Given the description of an element on the screen output the (x, y) to click on. 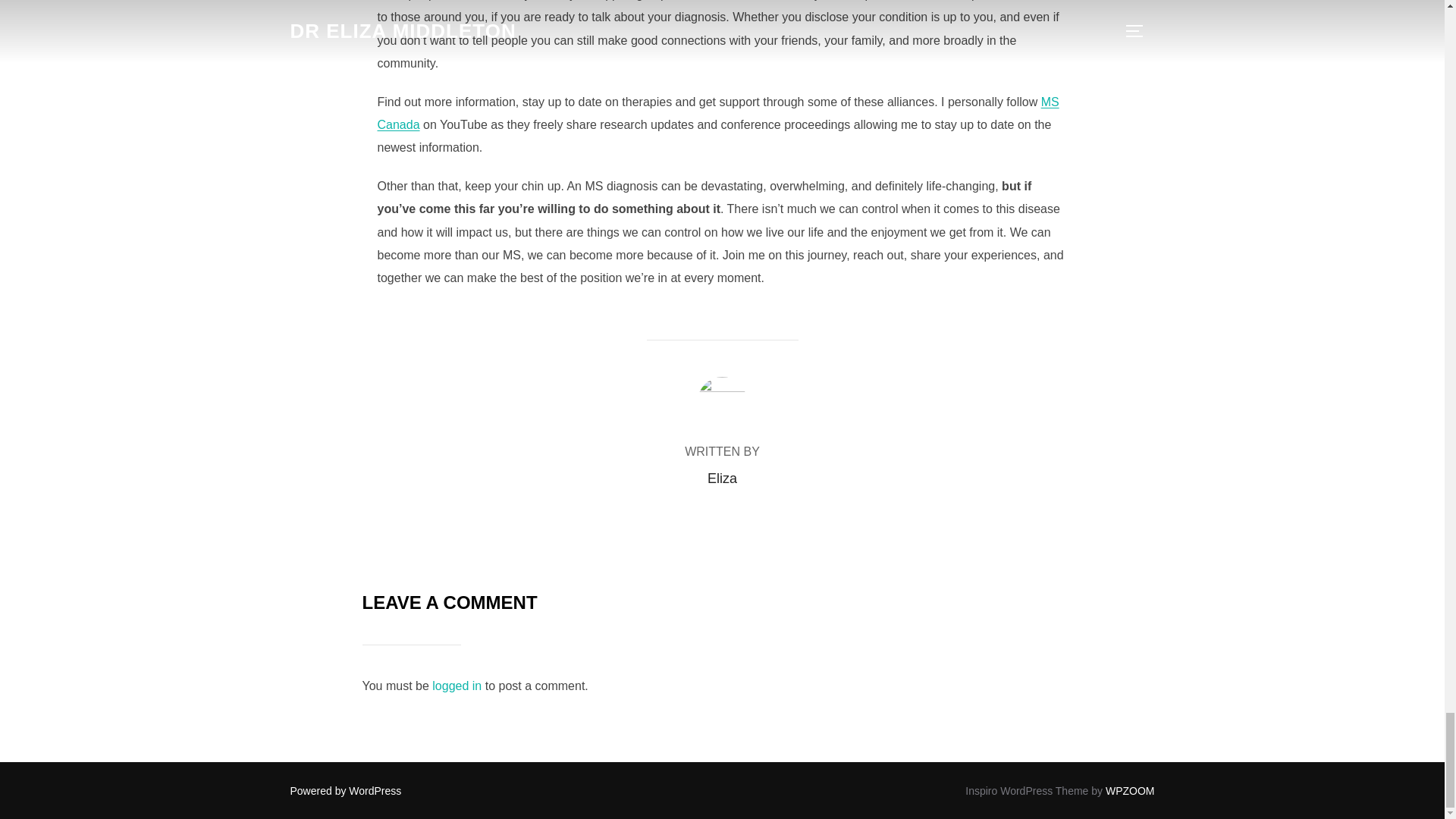
MS Canada (718, 113)
WPZOOM (1129, 789)
Powered by WordPress (345, 789)
Posts by Eliza (721, 478)
Eliza (721, 478)
logged in (456, 685)
